Given the description of an element on the screen output the (x, y) to click on. 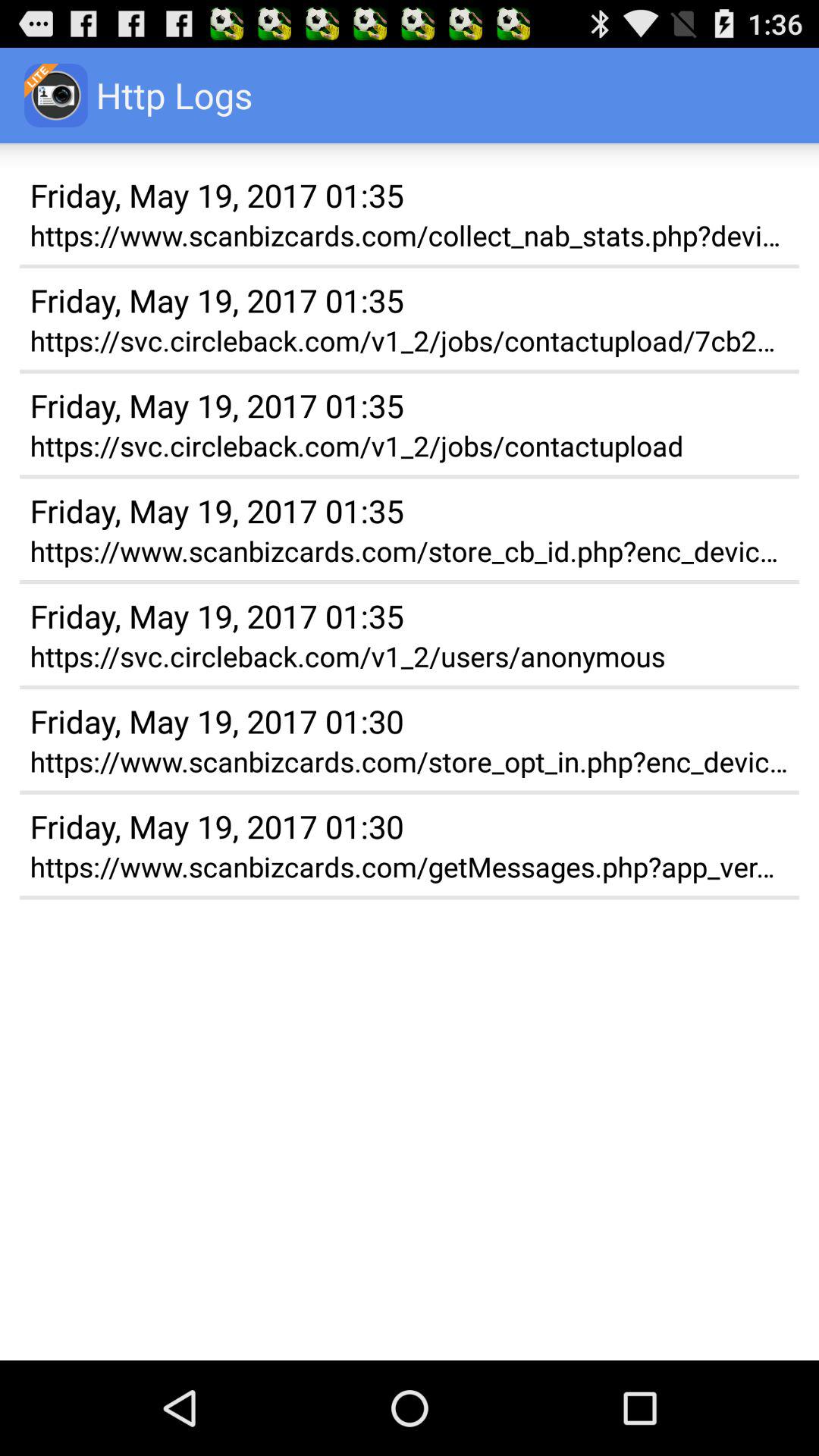
click on the first icon (55, 95)
